Given the description of an element on the screen output the (x, y) to click on. 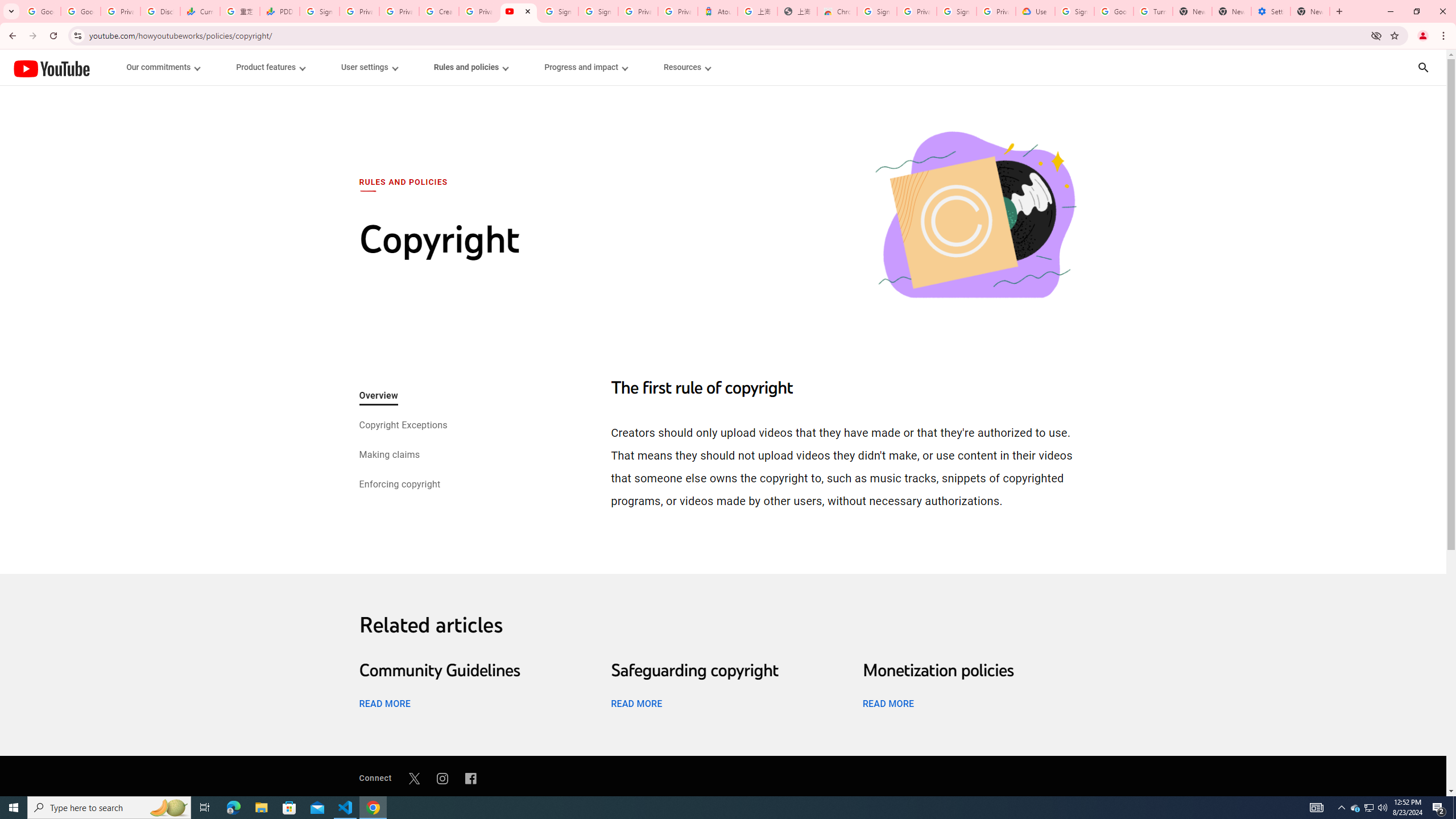
YouTube Copyright Rules & Policies - How YouTube Works (518, 11)
Settings - System (1270, 11)
New Tab (1310, 11)
Sign in - Google Accounts (557, 11)
Making claims (389, 455)
Currencies - Google Finance (199, 11)
